Given the description of an element on the screen output the (x, y) to click on. 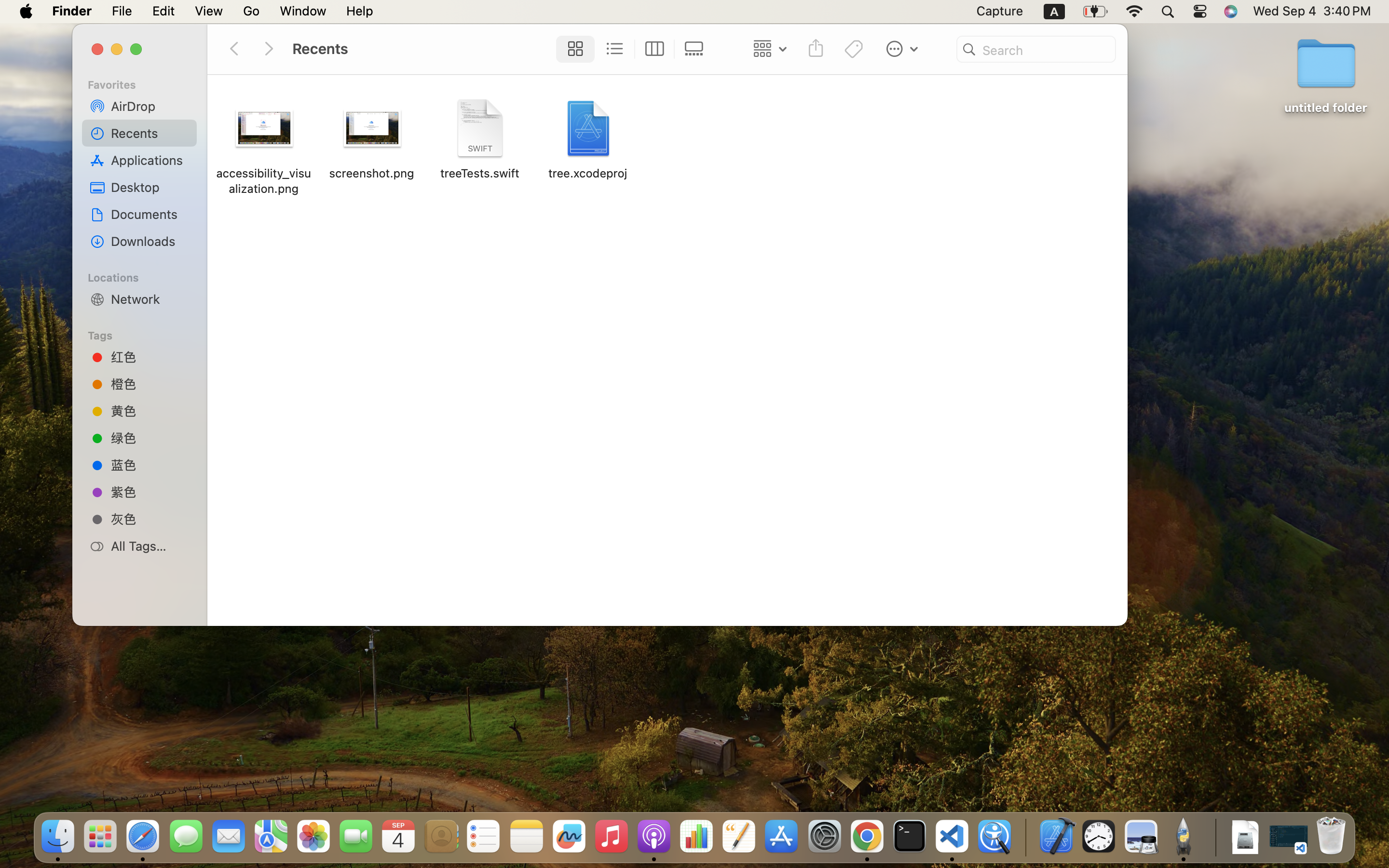
蓝色 Element type: AXStaticText (149, 464)
Desktop Element type: AXStaticText (149, 186)
All Tags… Element type: AXStaticText (149, 545)
<AXUIElement 0x15a77acb0> {pid=510} Element type: AXRadioGroup (633, 48)
Recents Element type: AXStaticText (149, 132)
